Given the description of an element on the screen output the (x, y) to click on. 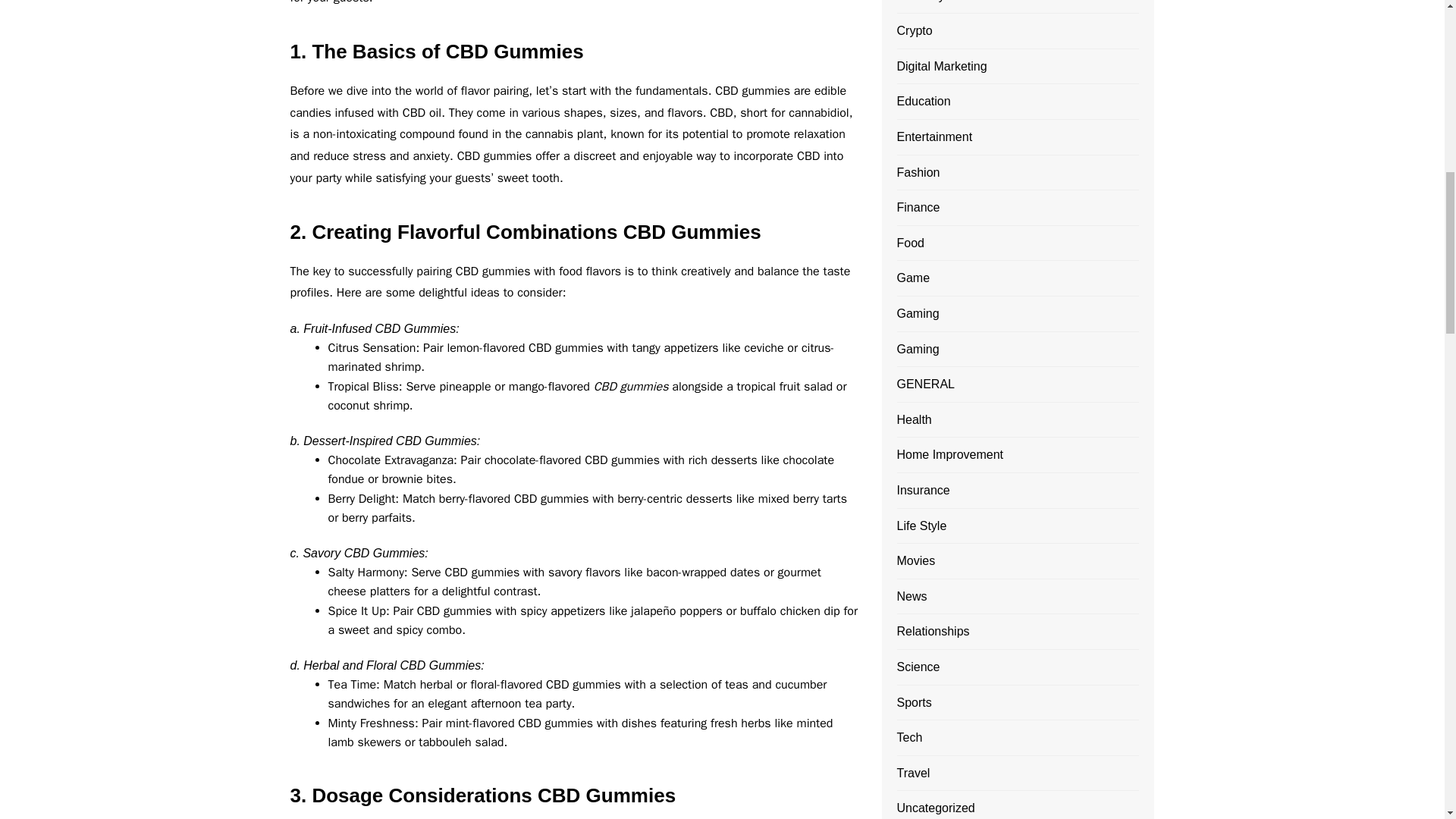
CBD gummies (631, 386)
